Given the description of an element on the screen output the (x, y) to click on. 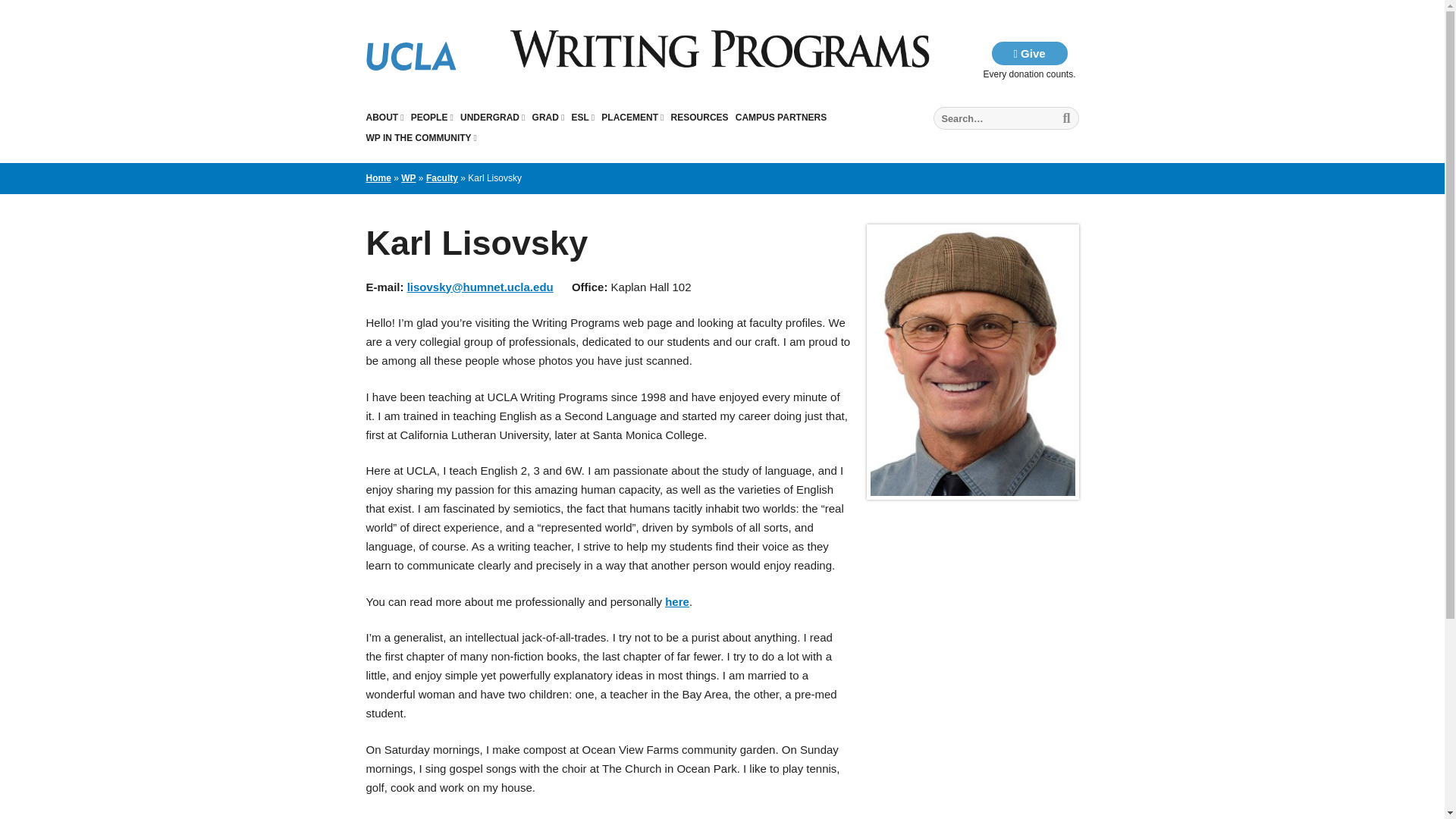
RESOURCES (700, 117)
Search for: (1005, 118)
PEOPLE (431, 117)
ABOUT (384, 117)
CAMPUS PARTNERS (781, 117)
Give (1029, 53)
PLACEMENT (632, 117)
ESL (582, 117)
UNDERGRAD (492, 117)
GRAD (548, 117)
